Given the description of an element on the screen output the (x, y) to click on. 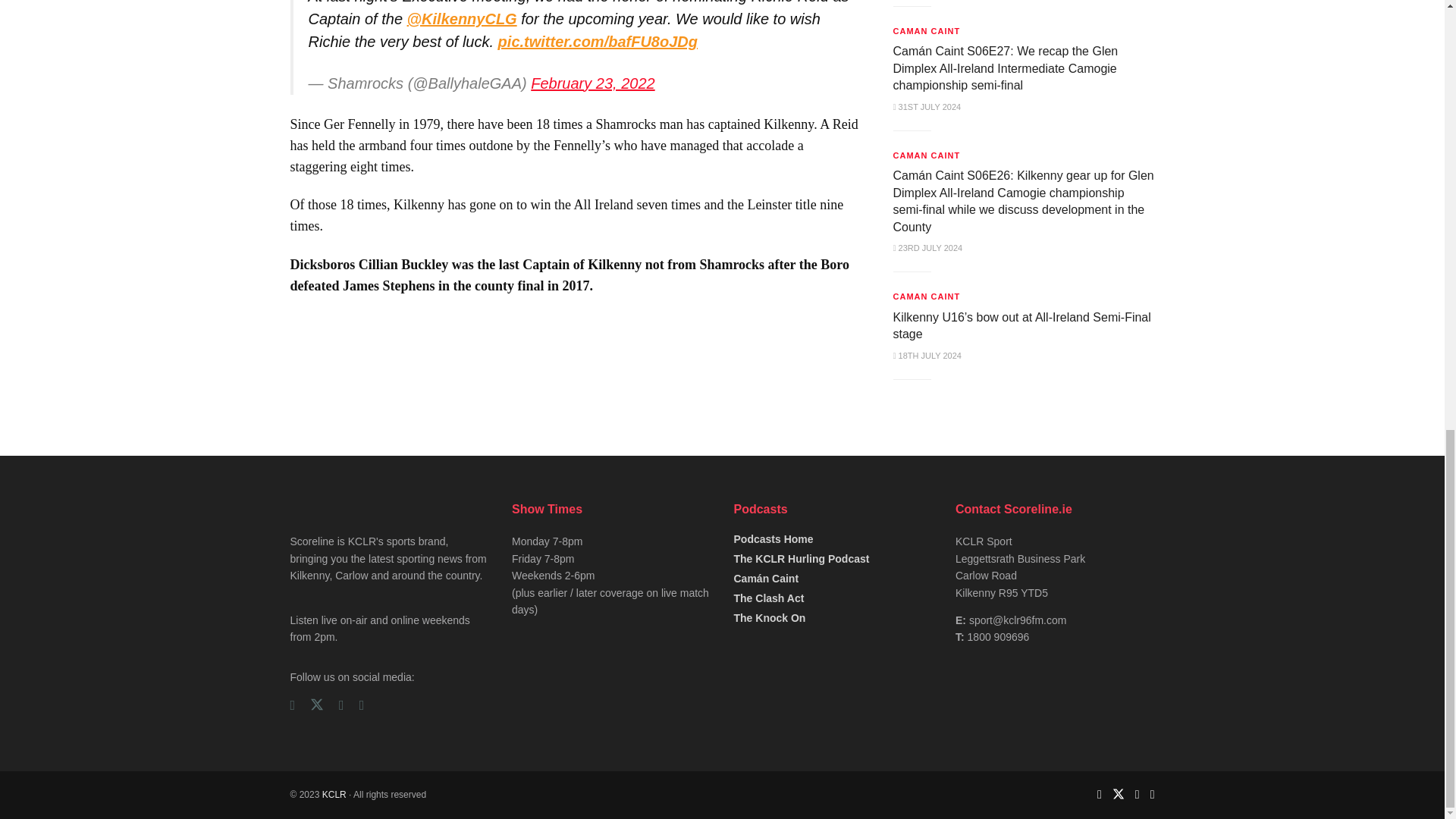
February 23, 2022 (592, 83)
